Given the description of an element on the screen output the (x, y) to click on. 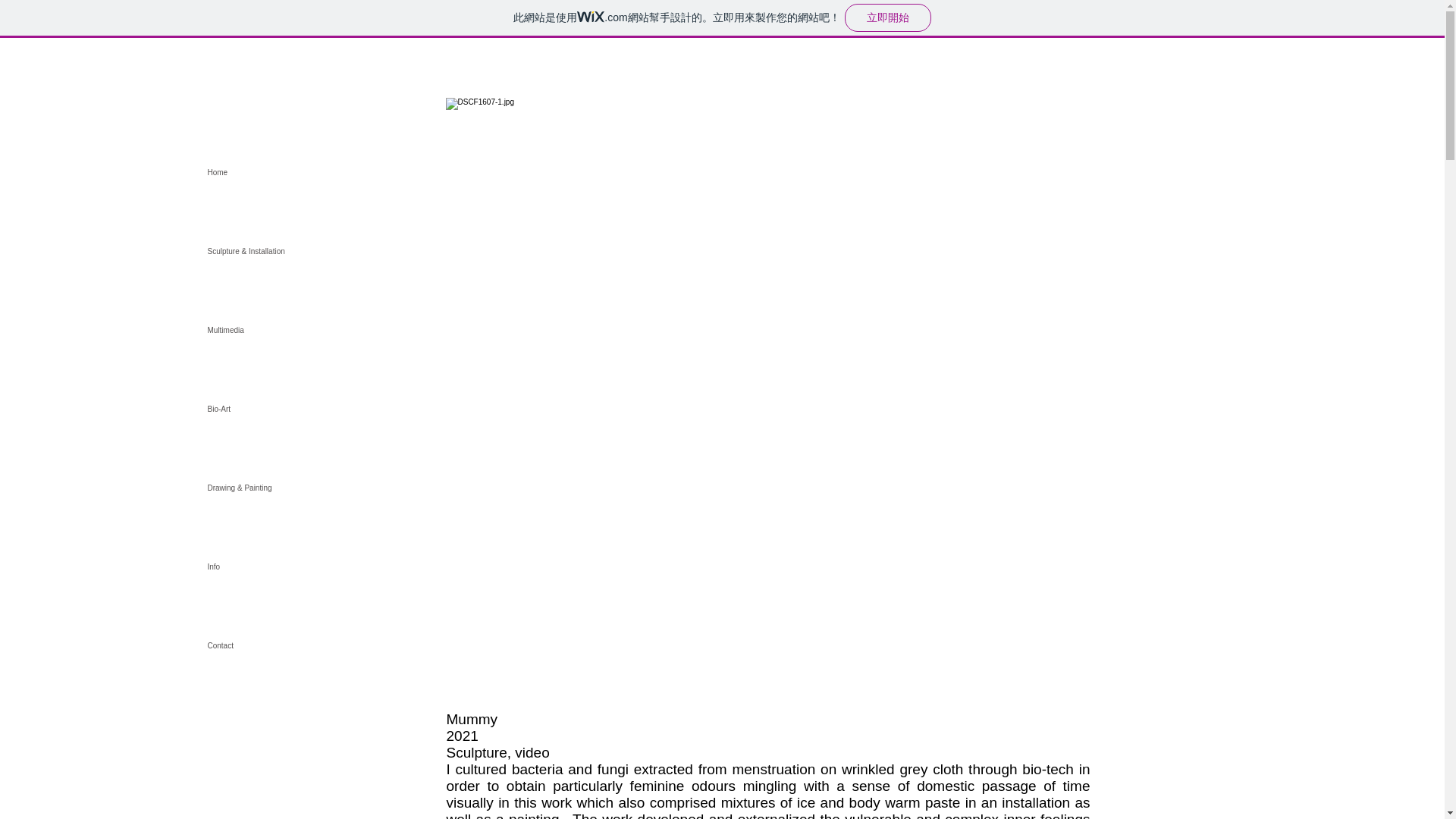
Contact (339, 645)
Home (339, 172)
Multimedia (339, 330)
Info (339, 566)
Bio-Art (339, 409)
